Given the description of an element on the screen output the (x, y) to click on. 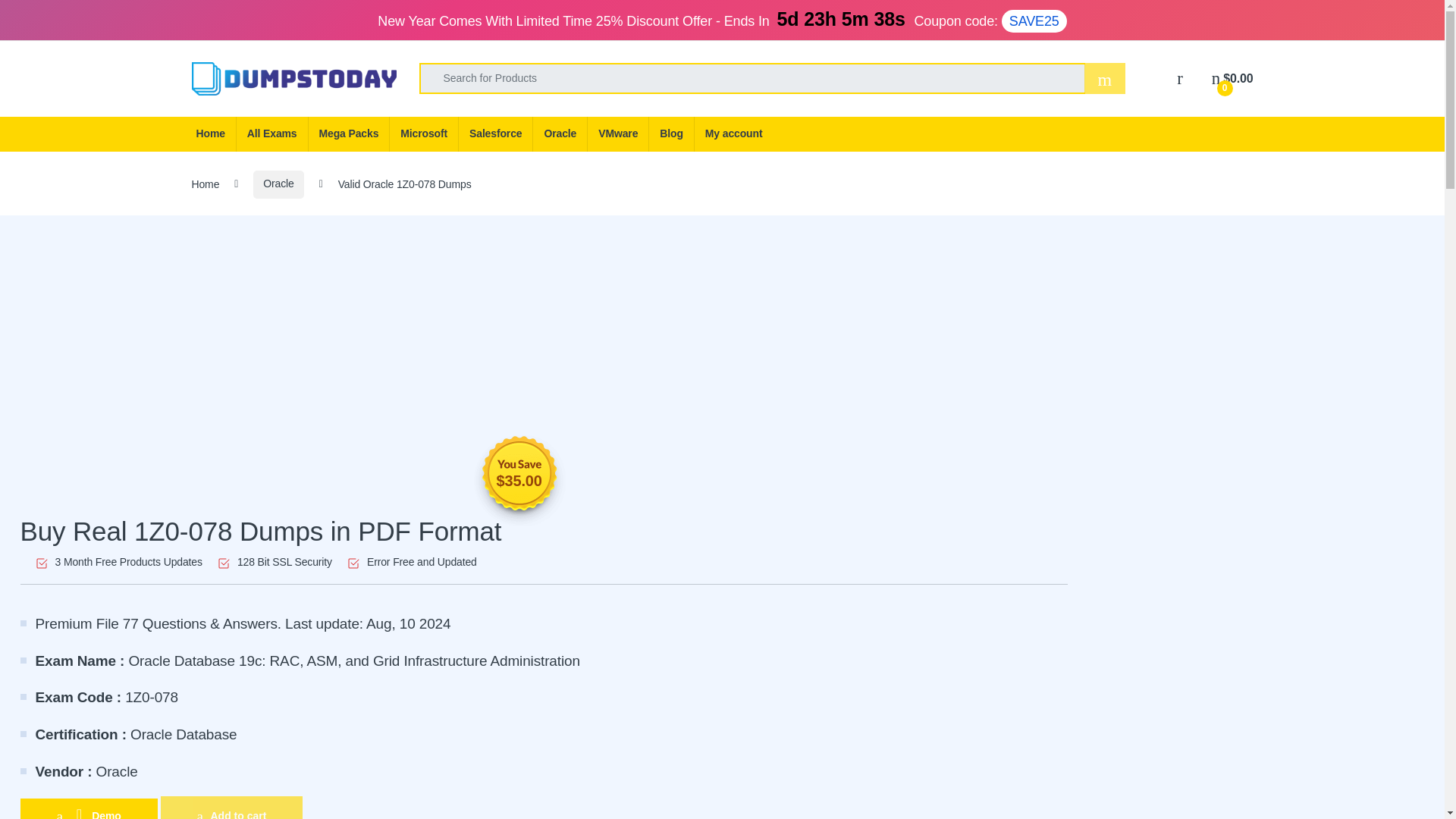
Add to cart (231, 807)
Salesforce (495, 134)
Microsoft (423, 134)
Mega Packs (348, 134)
Salesforce (495, 134)
All Exams (271, 134)
Home (209, 134)
Oracle (559, 134)
My account (733, 134)
Blog (670, 134)
